Given the description of an element on the screen output the (x, y) to click on. 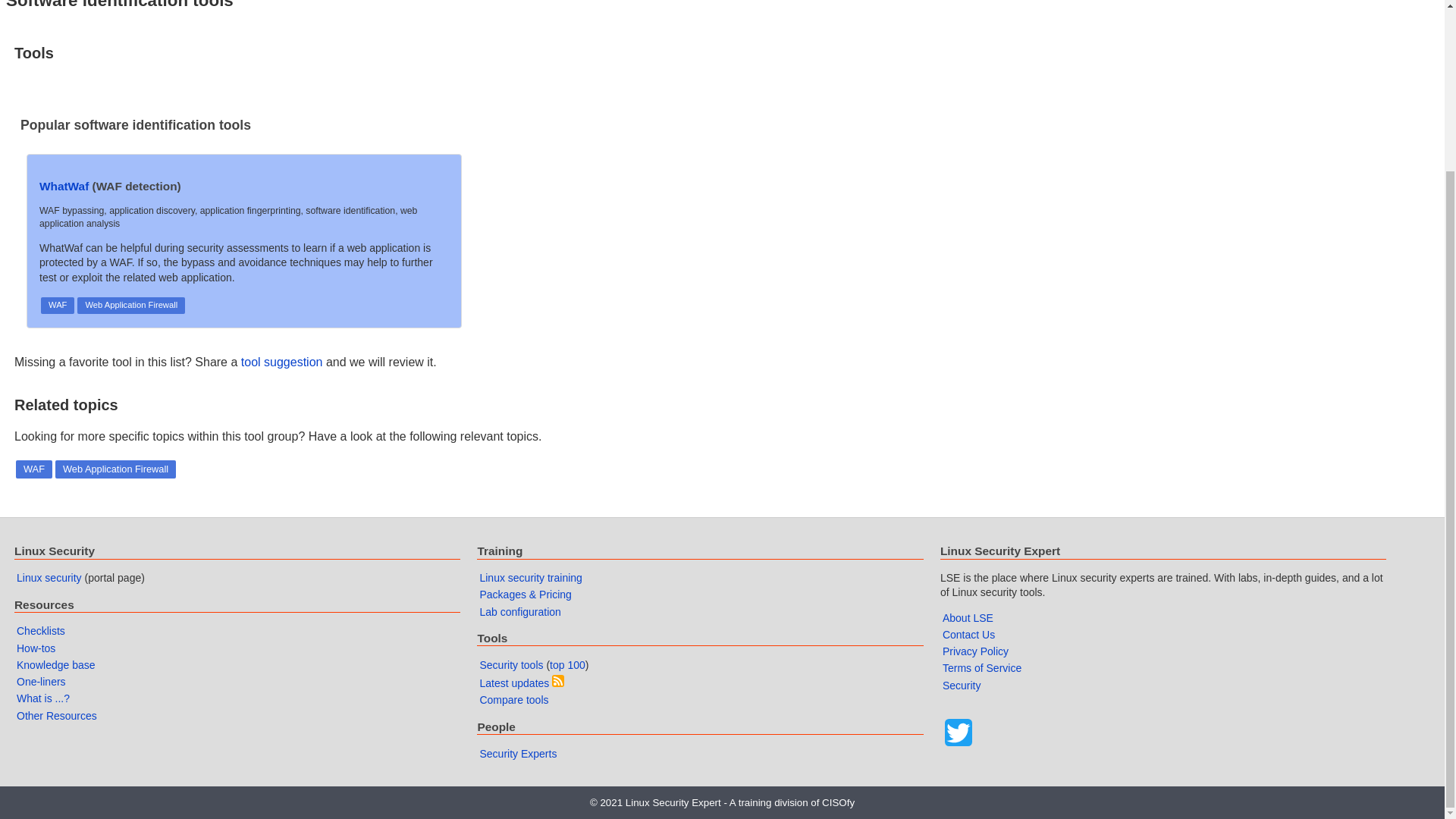
How-tos (35, 648)
Web Application Firewall (115, 469)
RSS feed (557, 683)
About LSE (967, 617)
RSS feed (557, 680)
Linux security training (529, 577)
Web Application Firewall (130, 304)
Lab configuration (519, 612)
One-liners (40, 681)
What is ...? (42, 698)
Latest updates (513, 683)
Linux security (48, 577)
Security Experts (517, 753)
Checklists (40, 630)
tool suggestion (282, 361)
